Given the description of an element on the screen output the (x, y) to click on. 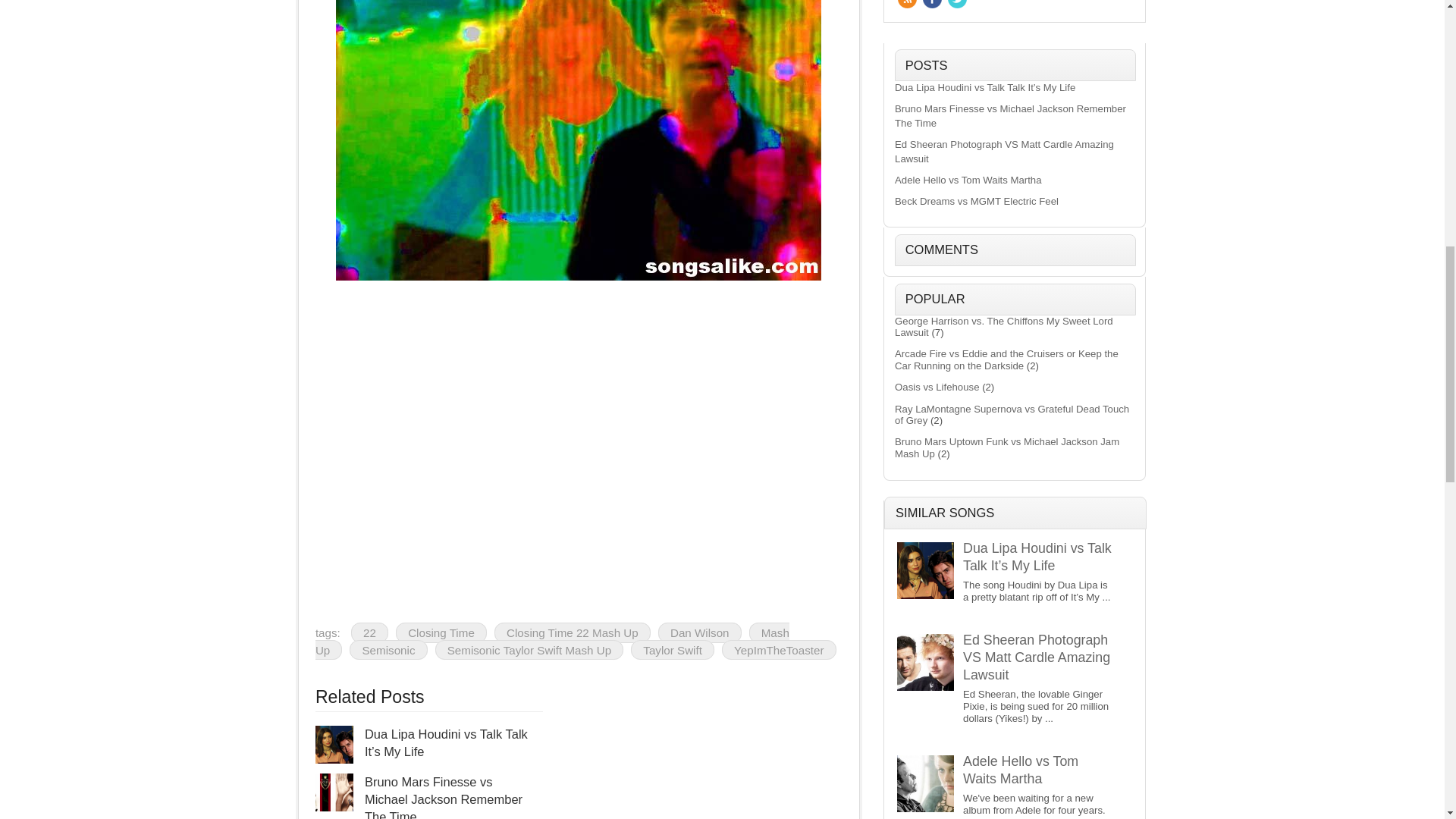
Bruno Mars Finesse vs Michael Jackson Remember The Time (443, 796)
Taylor Swift (672, 649)
YepImTheToaster (778, 649)
Closing Time 22 Mash Up (572, 632)
Closing Time (441, 632)
Bruno Mars Finesse vs Michael Jackson Remember The Time (334, 792)
Semisonic (387, 649)
Semisonic Taylor Swift Mash Up (529, 649)
Mash Up (552, 641)
Bruno Mars Finesse vs Michael Jackson Remember The Time (443, 796)
